Given the description of an element on the screen output the (x, y) to click on. 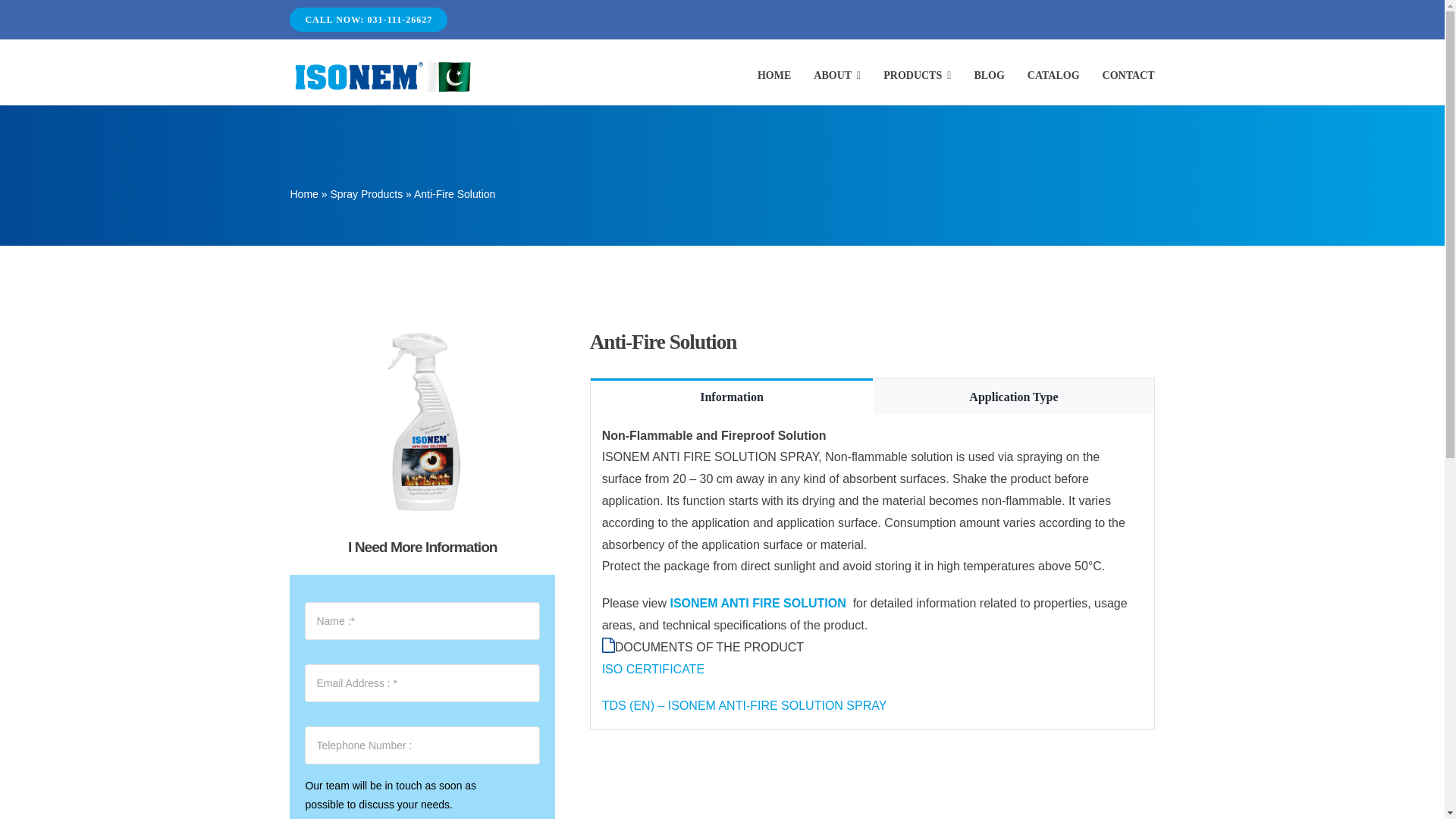
PRODUCTS (916, 75)
ISONEM anti-fire spray (422, 422)
ISO CERTIFICATE (653, 668)
ABOUT (836, 75)
Only numbers and phone characters are accepted. (422, 745)
CONTACT (1128, 75)
Spray Products (366, 193)
ISONEM ANTI FIRE SOLUTION  (758, 603)
Application Type (1013, 396)
Information (732, 396)
CALL NOW: 031-111-26627 (367, 19)
CATALOG (1053, 75)
Home (303, 193)
